Given the description of an element on the screen output the (x, y) to click on. 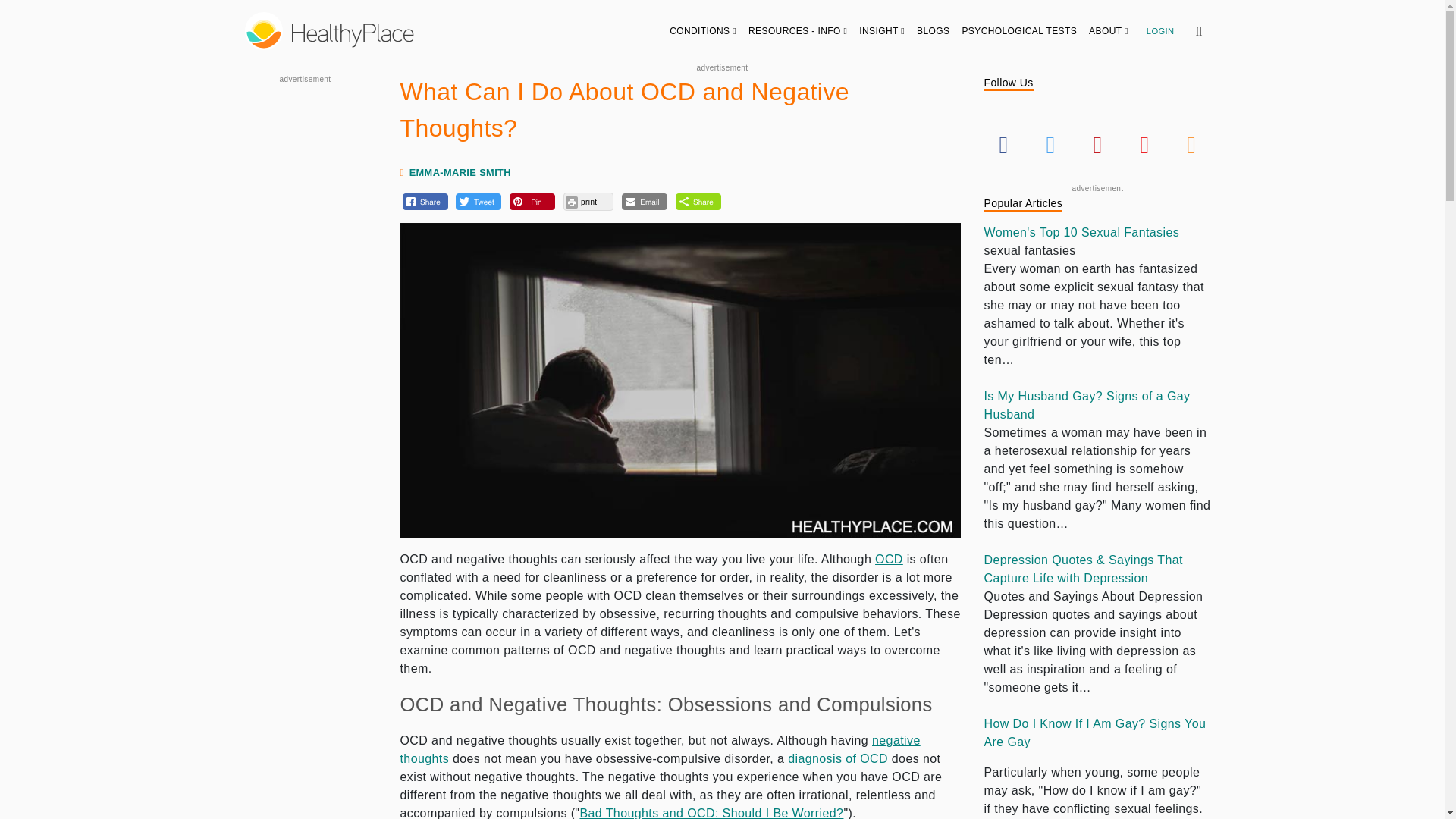
What is OCD? Obsessive-Compulsive Disorder Definition (888, 558)
OCD Diagnosis: OCD Criteria and Characteristics in DSM 5 (837, 758)
INSIGHT (882, 31)
RESOURCES - INFO (797, 31)
What Causes Negative Thoughts and How to Stop Them? (660, 748)
CONDITIONS (702, 31)
